Given the description of an element on the screen output the (x, y) to click on. 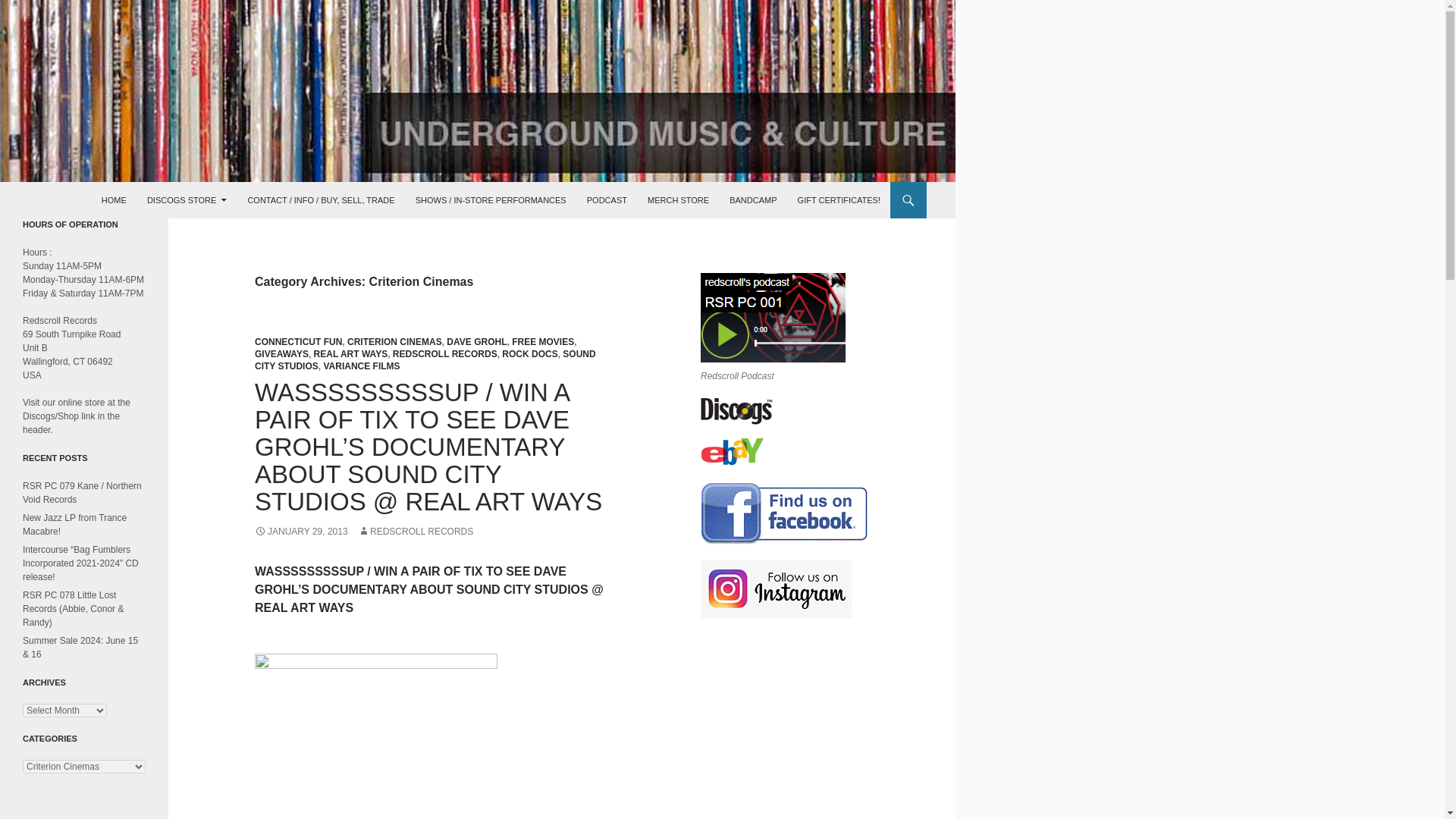
HOME (114, 199)
DISCOGS STORE (186, 199)
Redscroll Records (82, 199)
Redscroll on Ebay (731, 452)
Redscroll on Discogs (736, 411)
